Given the description of an element on the screen output the (x, y) to click on. 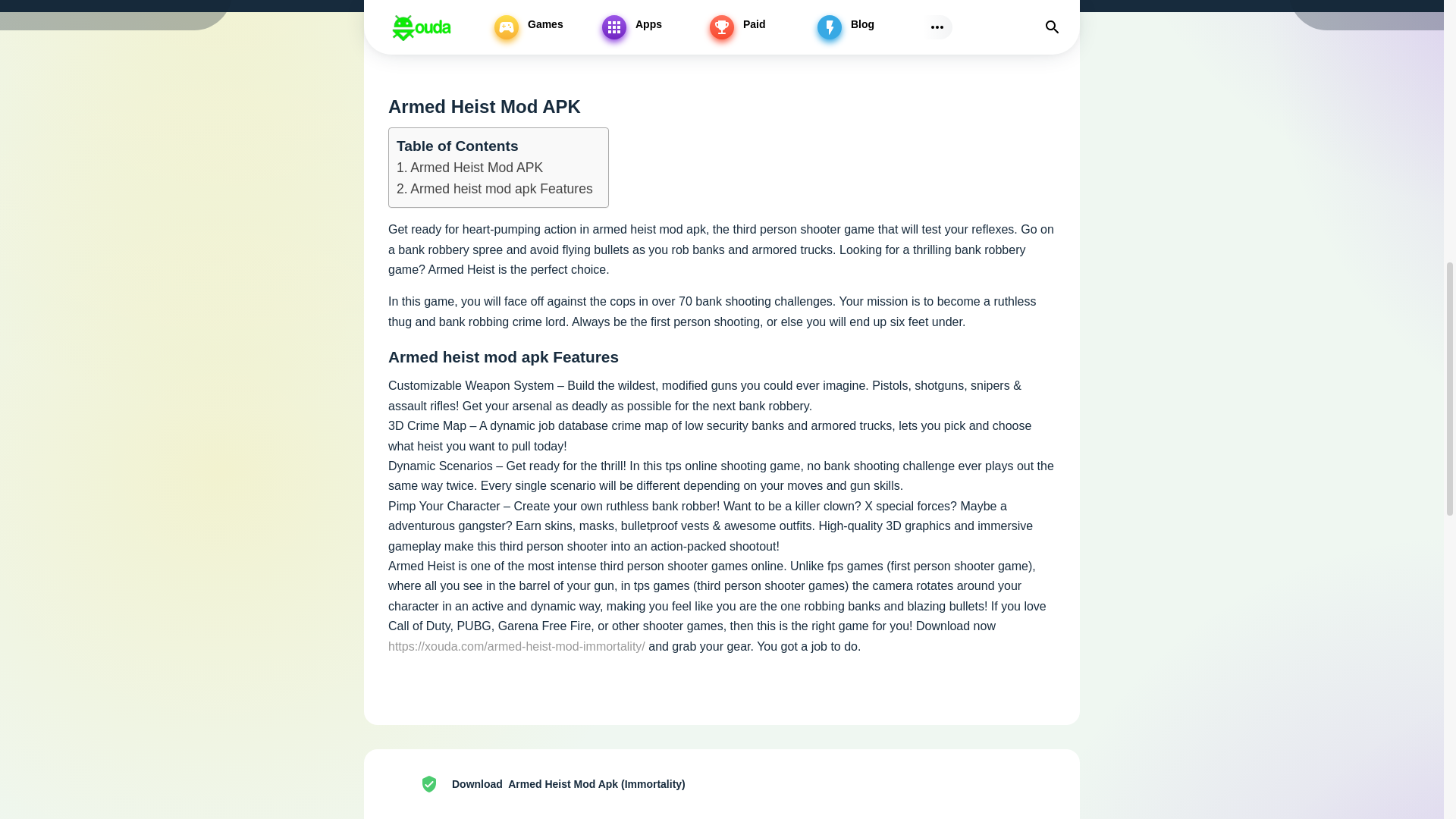
Description (421, 12)
Armed heist mod apk Features (494, 188)
Armed Heist Mod APK (469, 167)
armed-heist-shooting-gun-game.png (405, 783)
